Given the description of an element on the screen output the (x, y) to click on. 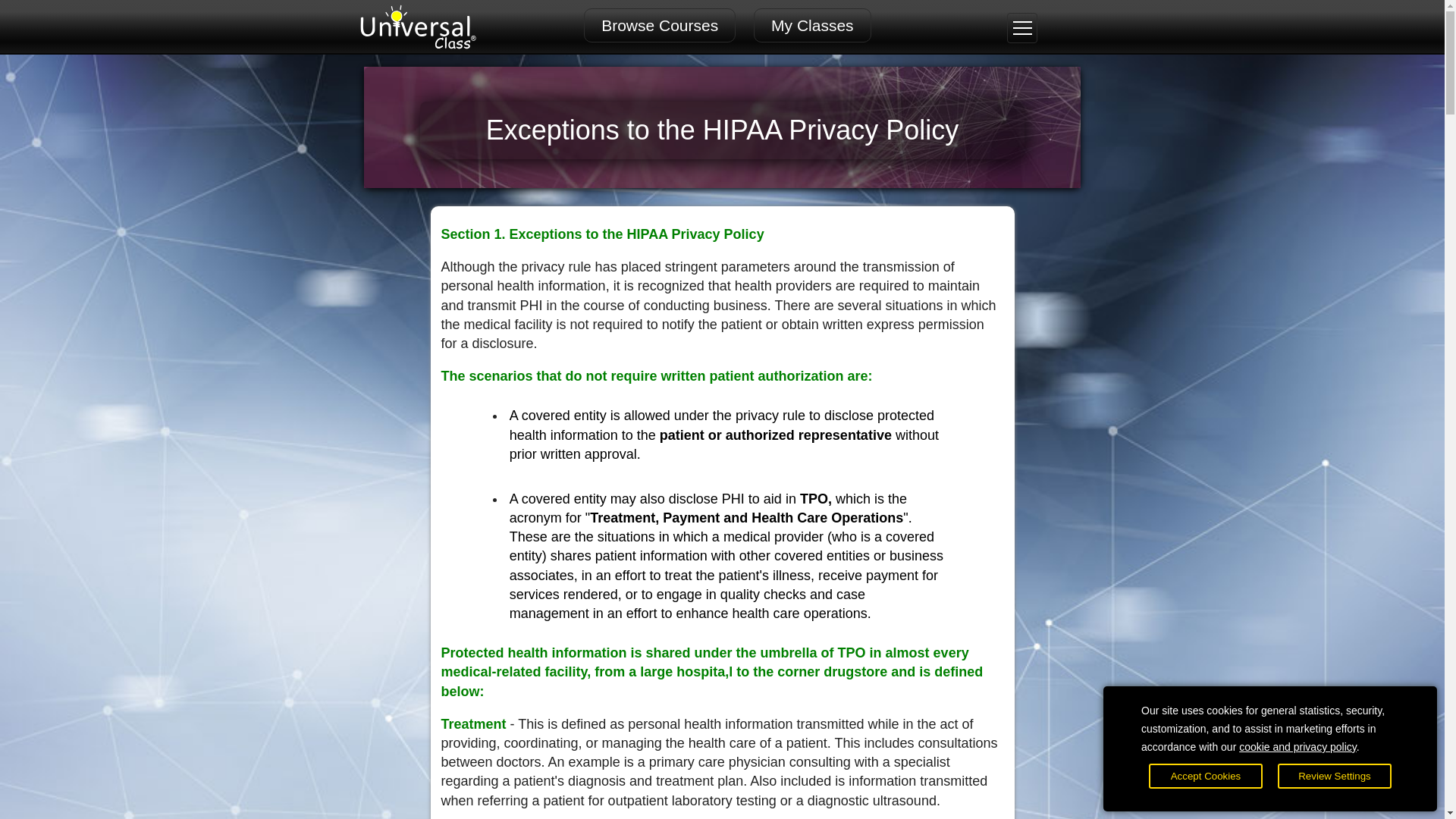
My Classes (812, 25)
Browse Courses (659, 25)
